Given the description of an element on the screen output the (x, y) to click on. 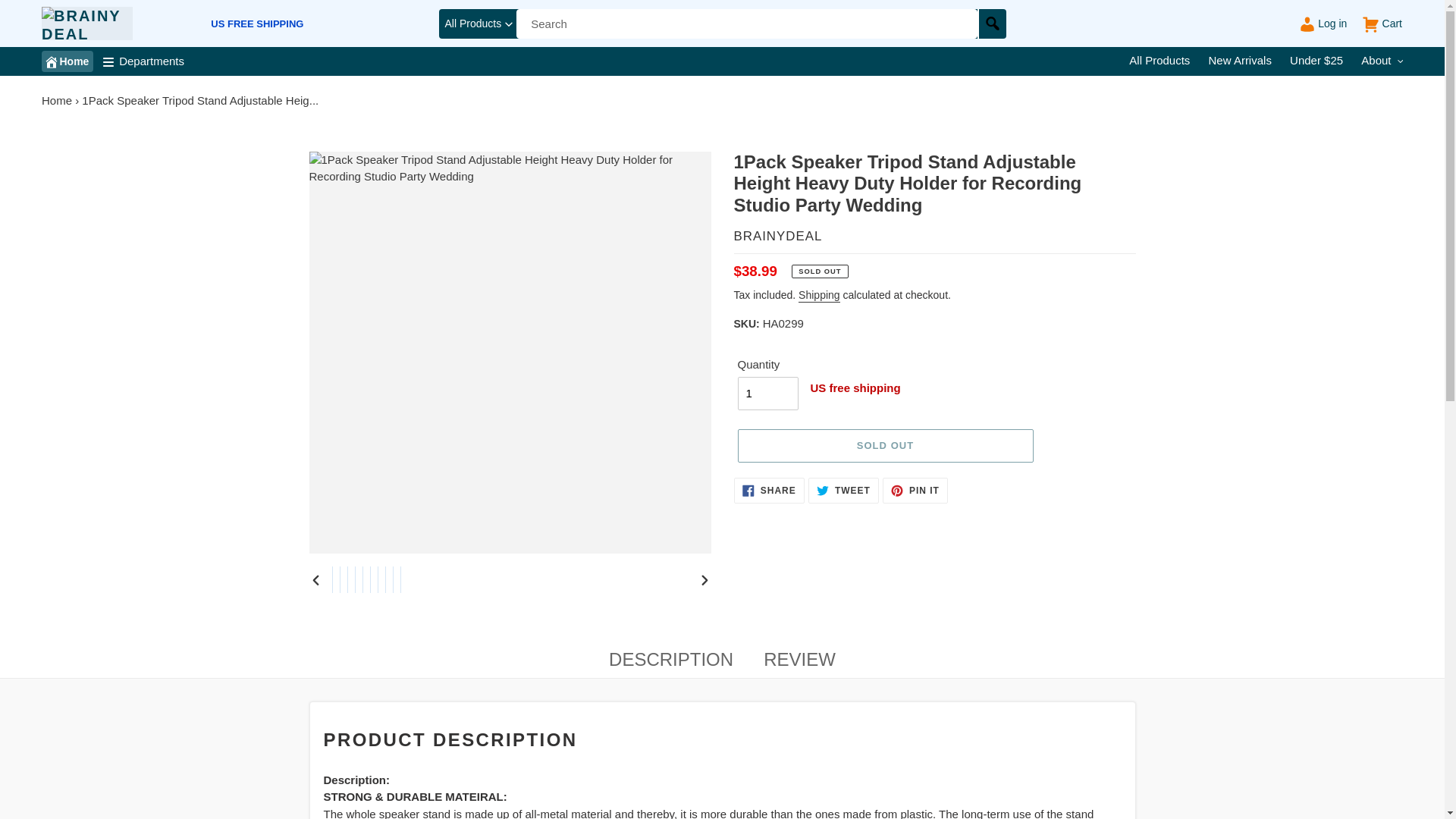
US FREE SHIPPING (256, 24)
Log in (1319, 23)
Cart (1379, 23)
1 (766, 393)
Submit (991, 23)
Home (56, 100)
brainydeal (87, 23)
